Given the description of an element on the screen output the (x, y) to click on. 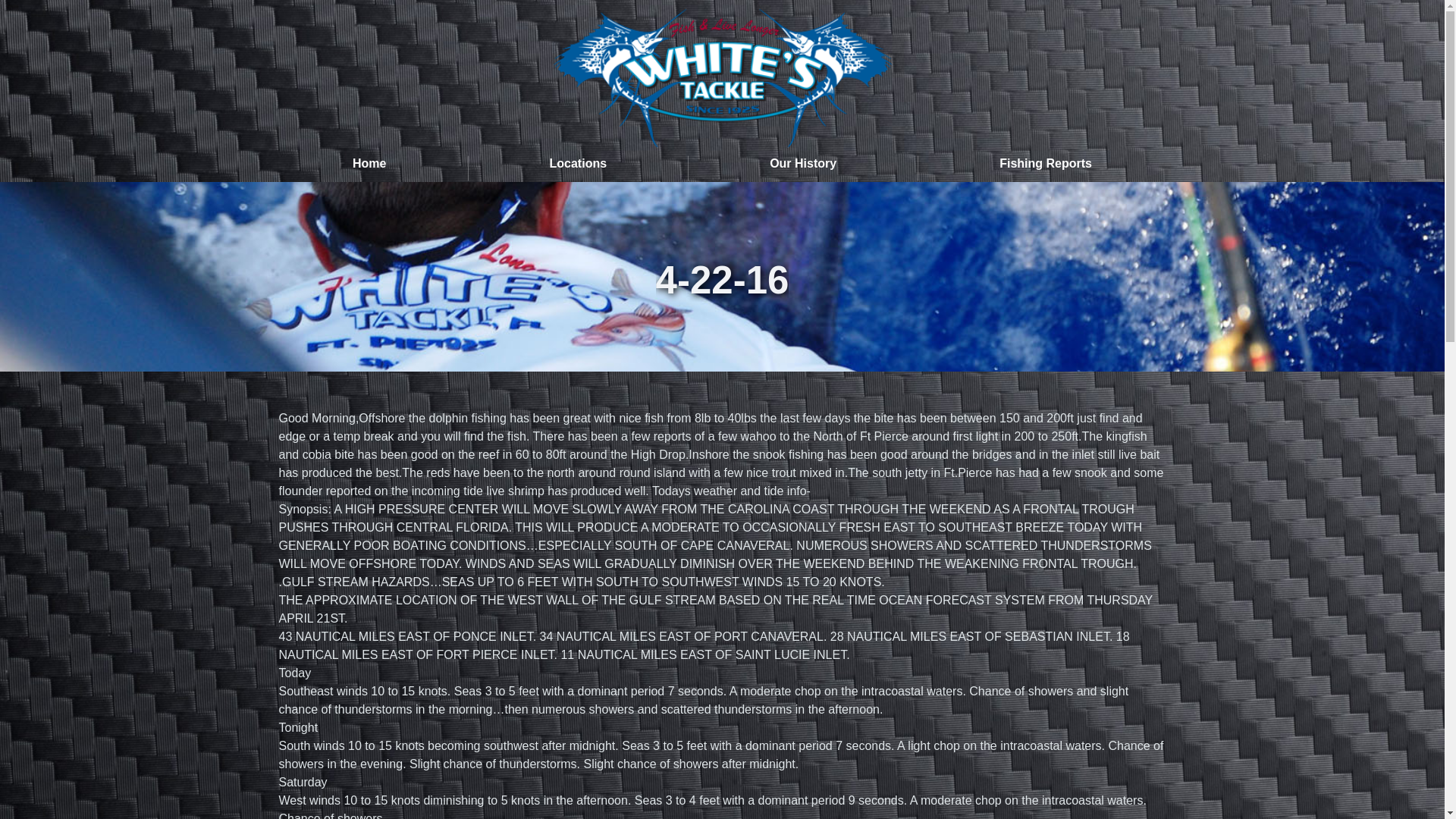
Our History (803, 163)
Locations (577, 163)
Home (369, 163)
Fishing Reports (1045, 163)
